Given the description of an element on the screen output the (x, y) to click on. 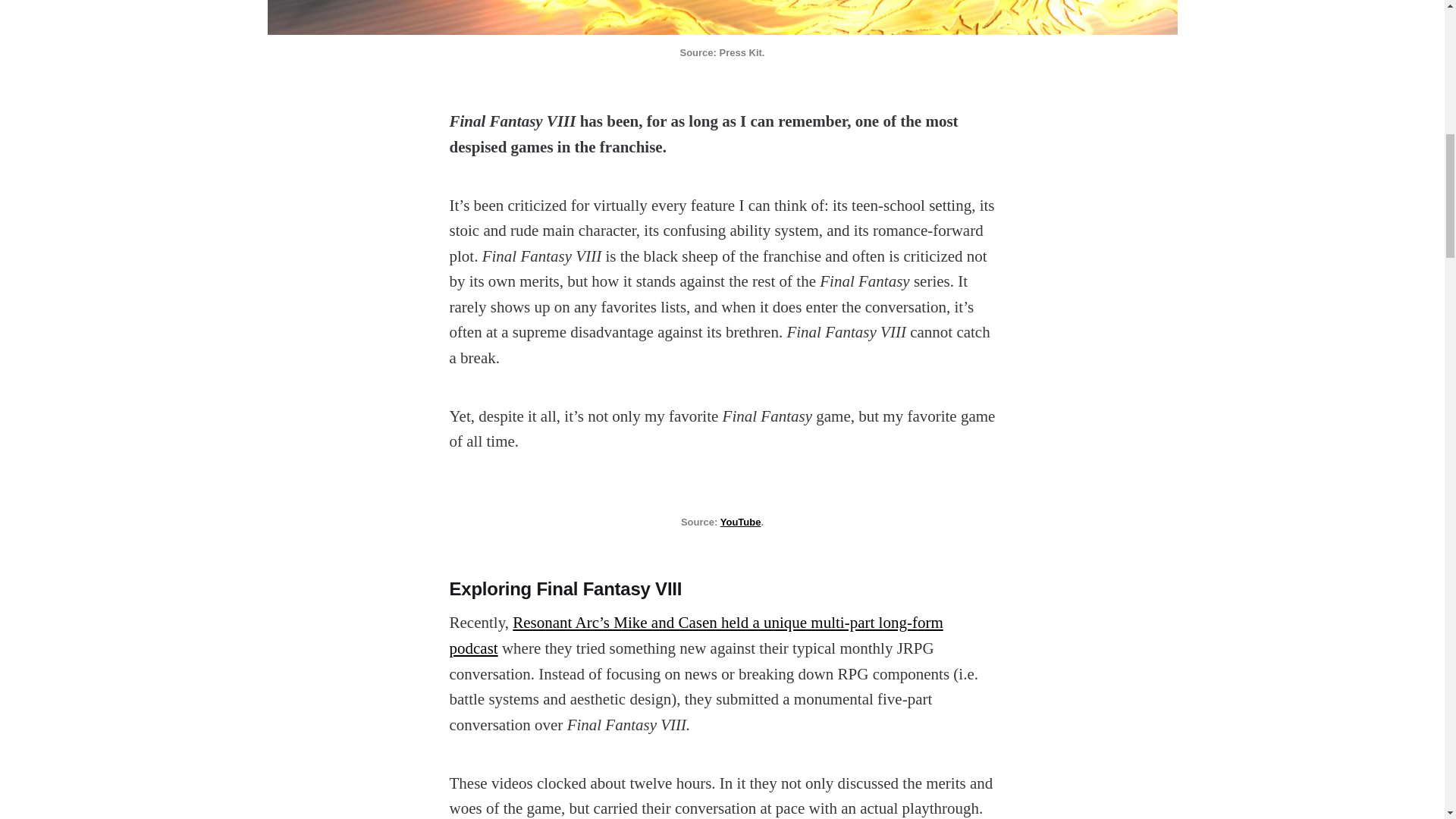
YouTube (740, 521)
